Given the description of an element on the screen output the (x, y) to click on. 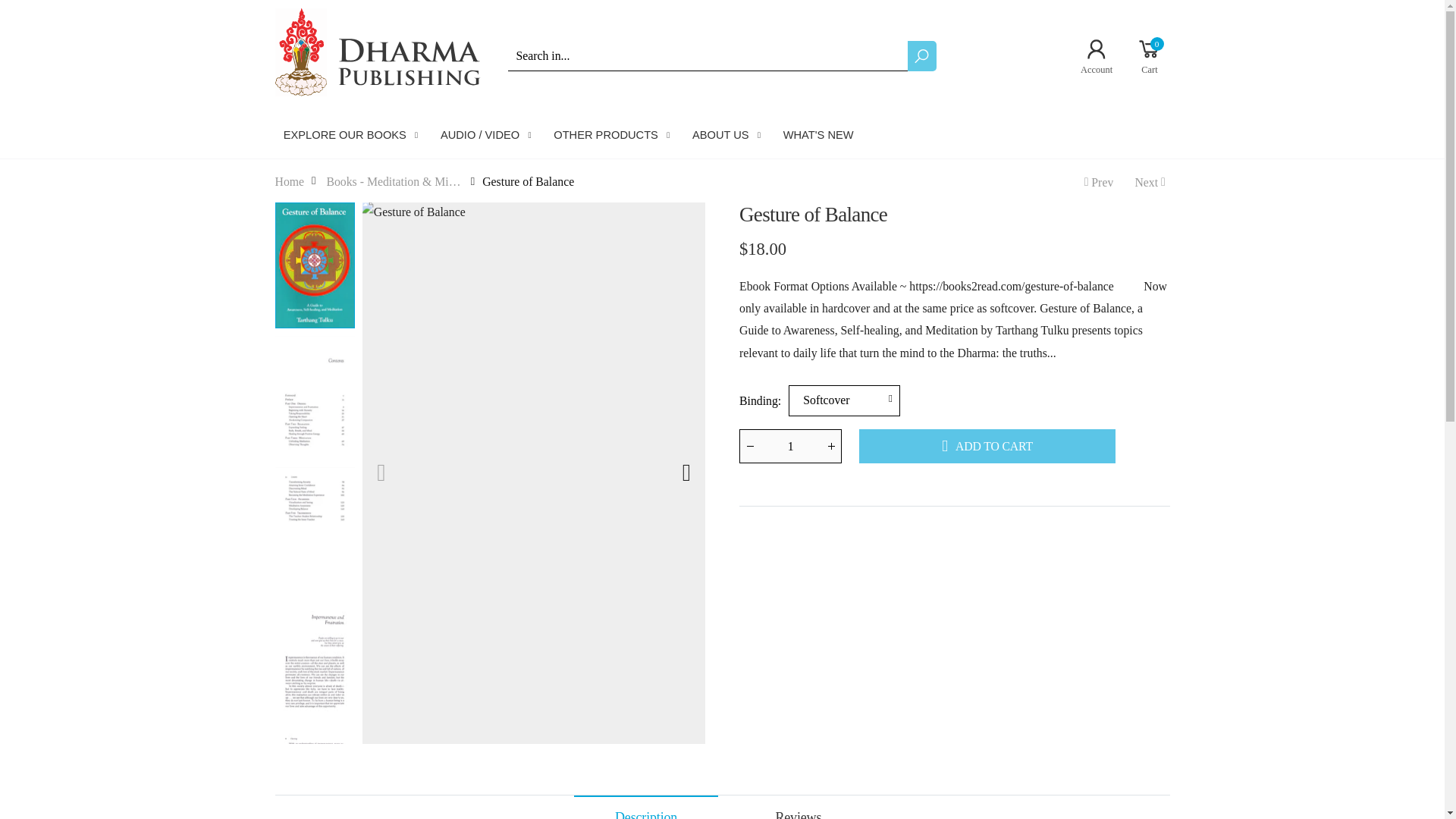
Home (289, 181)
Kum Nye - Tibetan Yoga (1096, 181)
EXPLORE OUR BOOKS (1143, 55)
Gesture of Great Love (353, 135)
Account (1151, 181)
1 (1090, 55)
